Given the description of an element on the screen output the (x, y) to click on. 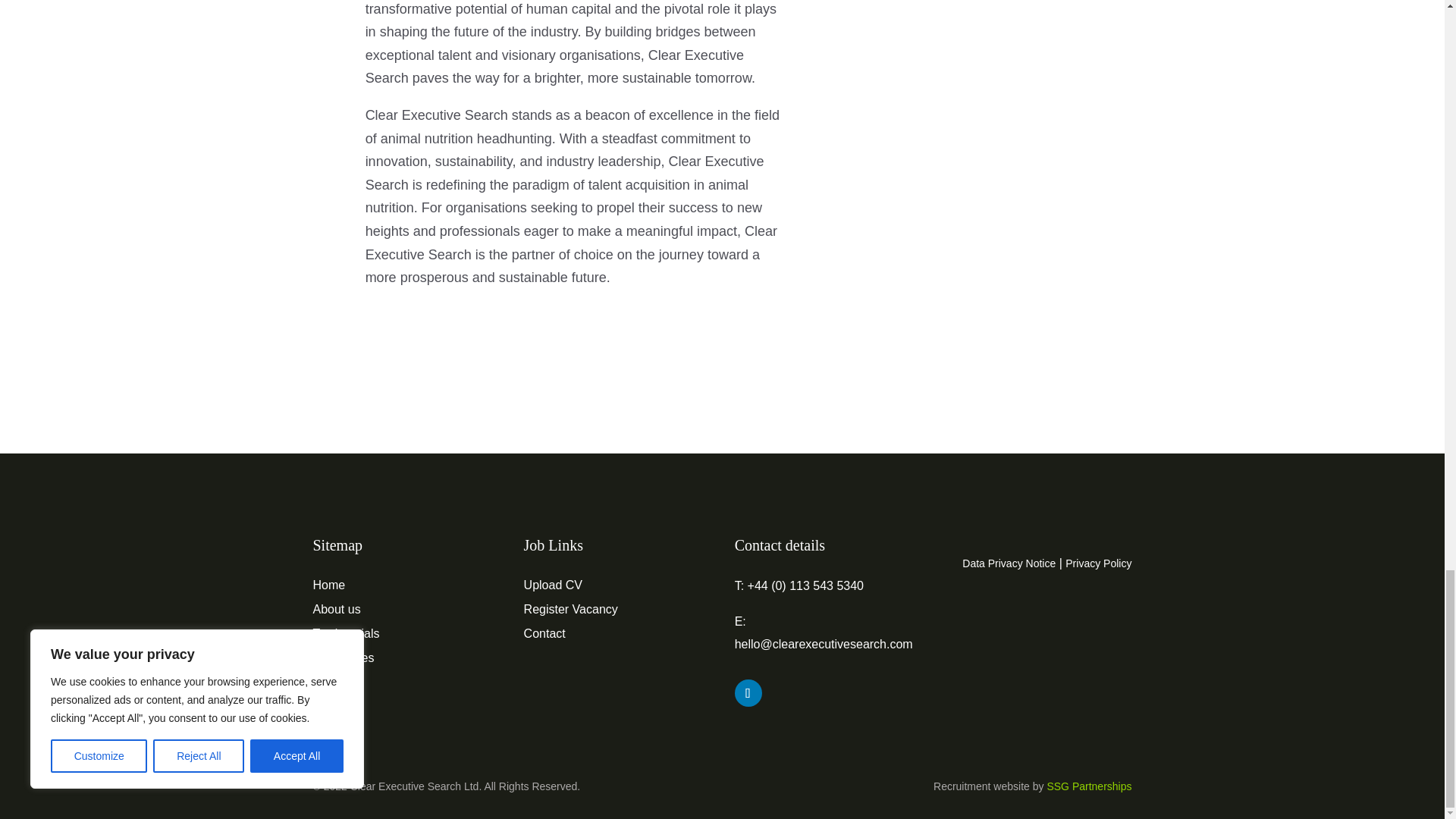
Follow on LinkedIn (748, 692)
